Given the description of an element on the screen output the (x, y) to click on. 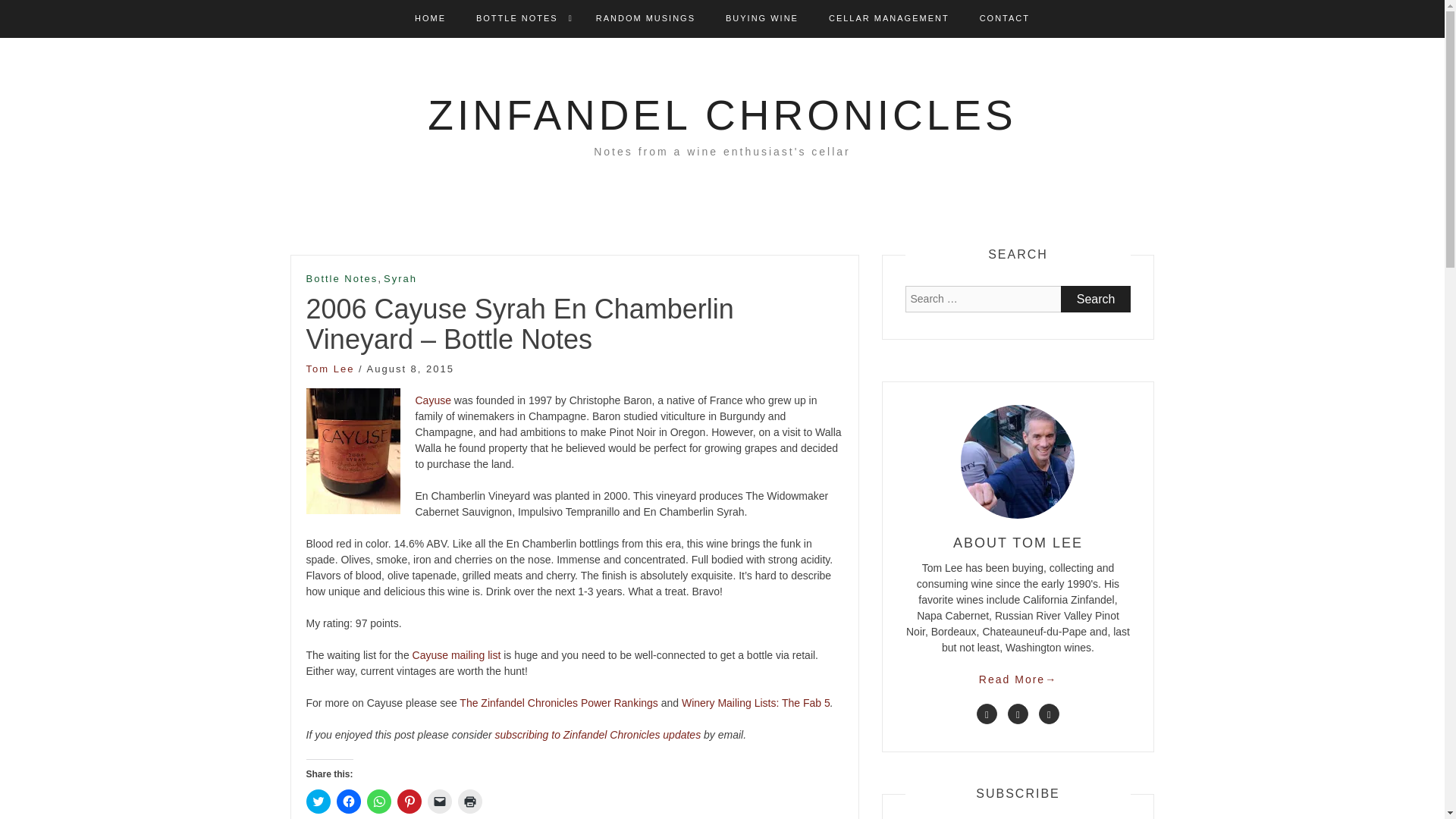
Winery Mailing Lists: The Fab 5 (755, 702)
The ZinfandelChronicles Power Rankings Revisited  (559, 702)
Winery Mailing Lists: The Fab 5 (755, 702)
BUYING WINE (761, 18)
CELLAR MANAGEMENT (888, 18)
Cayuse Vineyards (432, 399)
mailing list (456, 654)
ZINFANDEL CHRONICLES (722, 114)
subscribing to Zinfandel Chronicles updates (598, 734)
Tom Lee (330, 368)
